Given the description of an element on the screen output the (x, y) to click on. 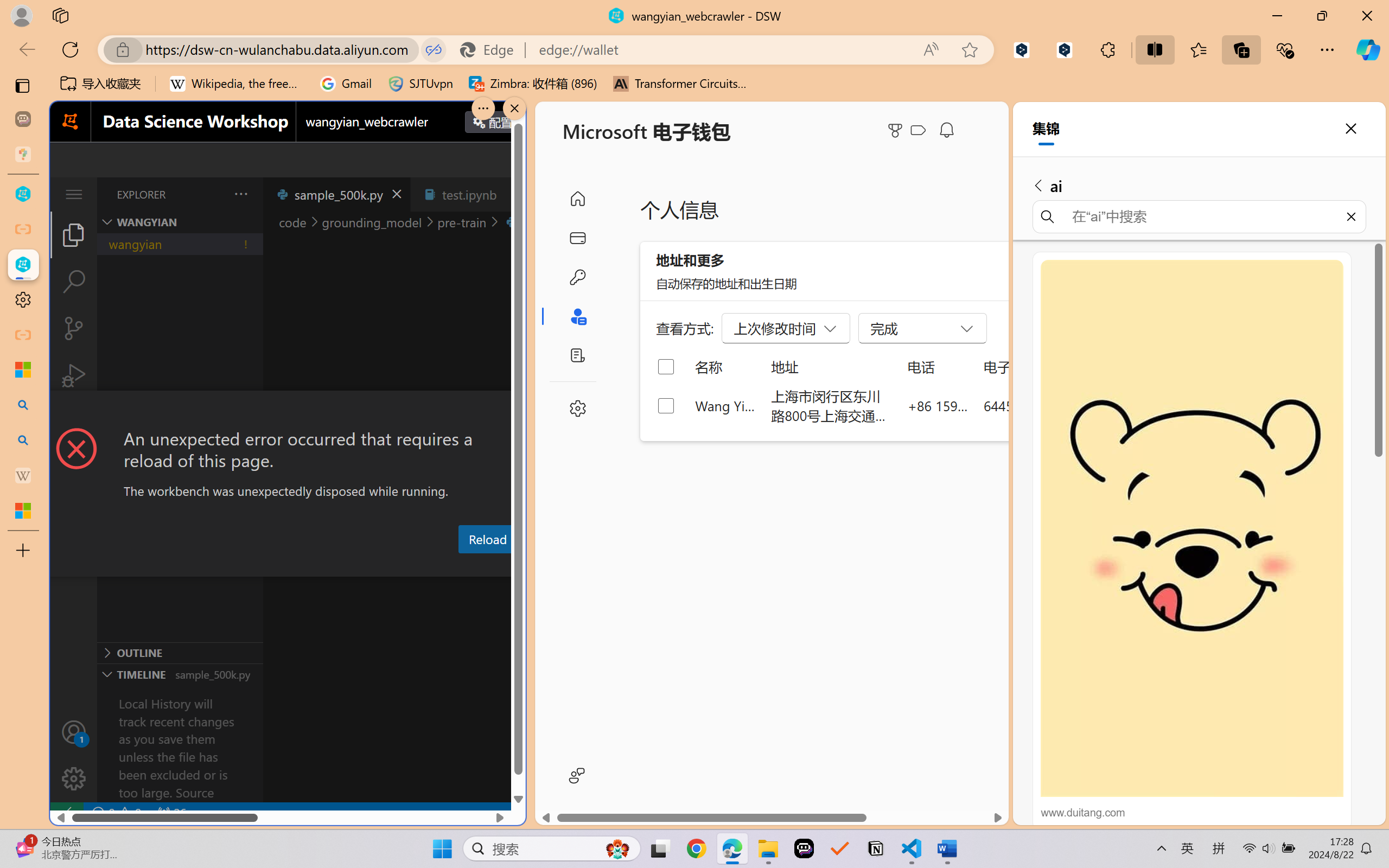
Source Control (Ctrl+Shift+G) (73, 328)
remote (66, 812)
Problems (Ctrl+Shift+M) (308, 565)
Copilot (Ctrl+Shift+.) (1368, 49)
Search (Ctrl+Shift+F) (73, 281)
Terminal (Ctrl+`) (553, 565)
